Given the description of an element on the screen output the (x, y) to click on. 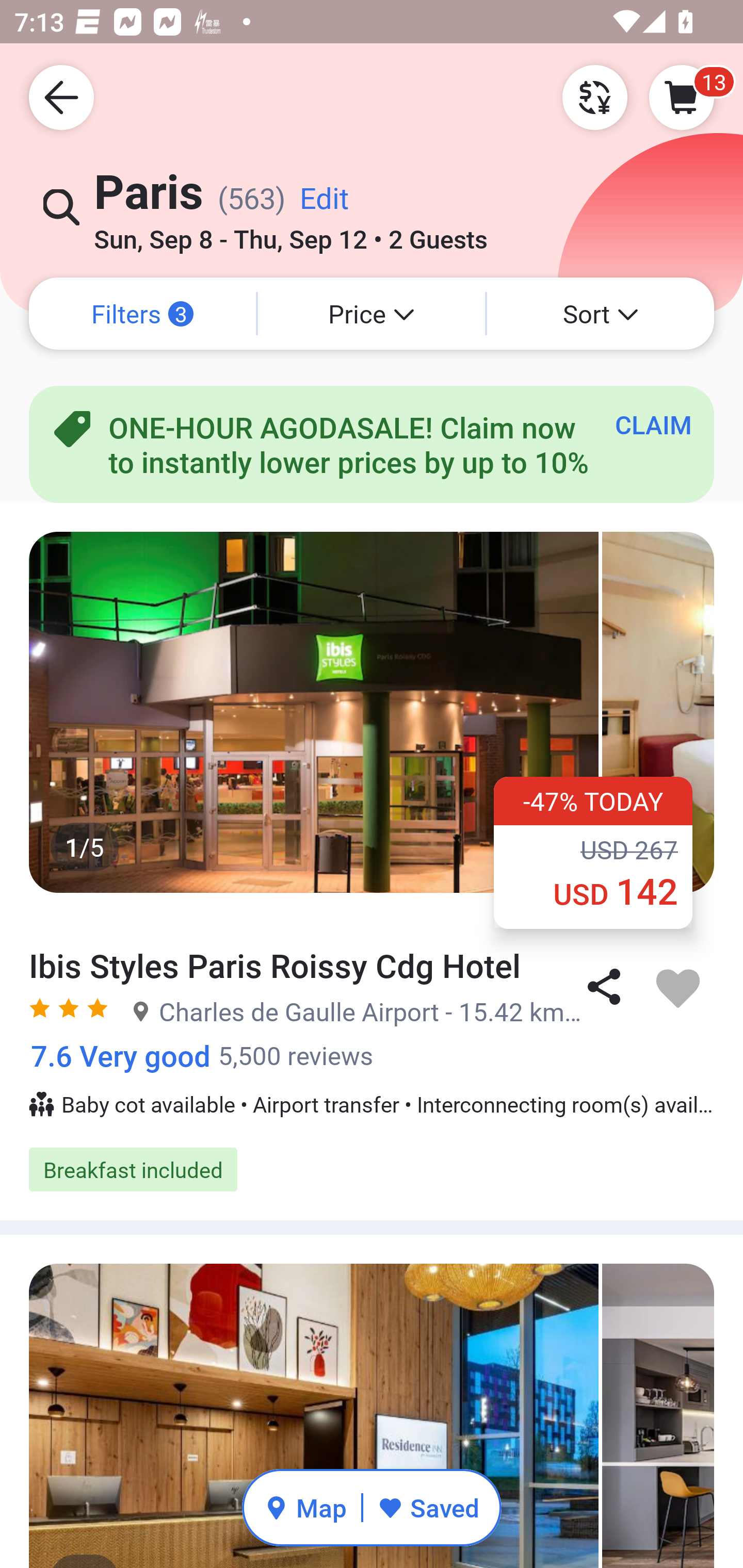
Filters 3 (141, 313)
Price (371, 313)
Sort (600, 313)
CLAIM (653, 424)
1/5 (371, 711)
-47% TODAY ‪USD 267 ‪USD 142 (593, 852)
Breakfast included (371, 1169)
1/5 (371, 1415)
Map (305, 1507)
Saved (428, 1507)
